Given the description of an element on the screen output the (x, y) to click on. 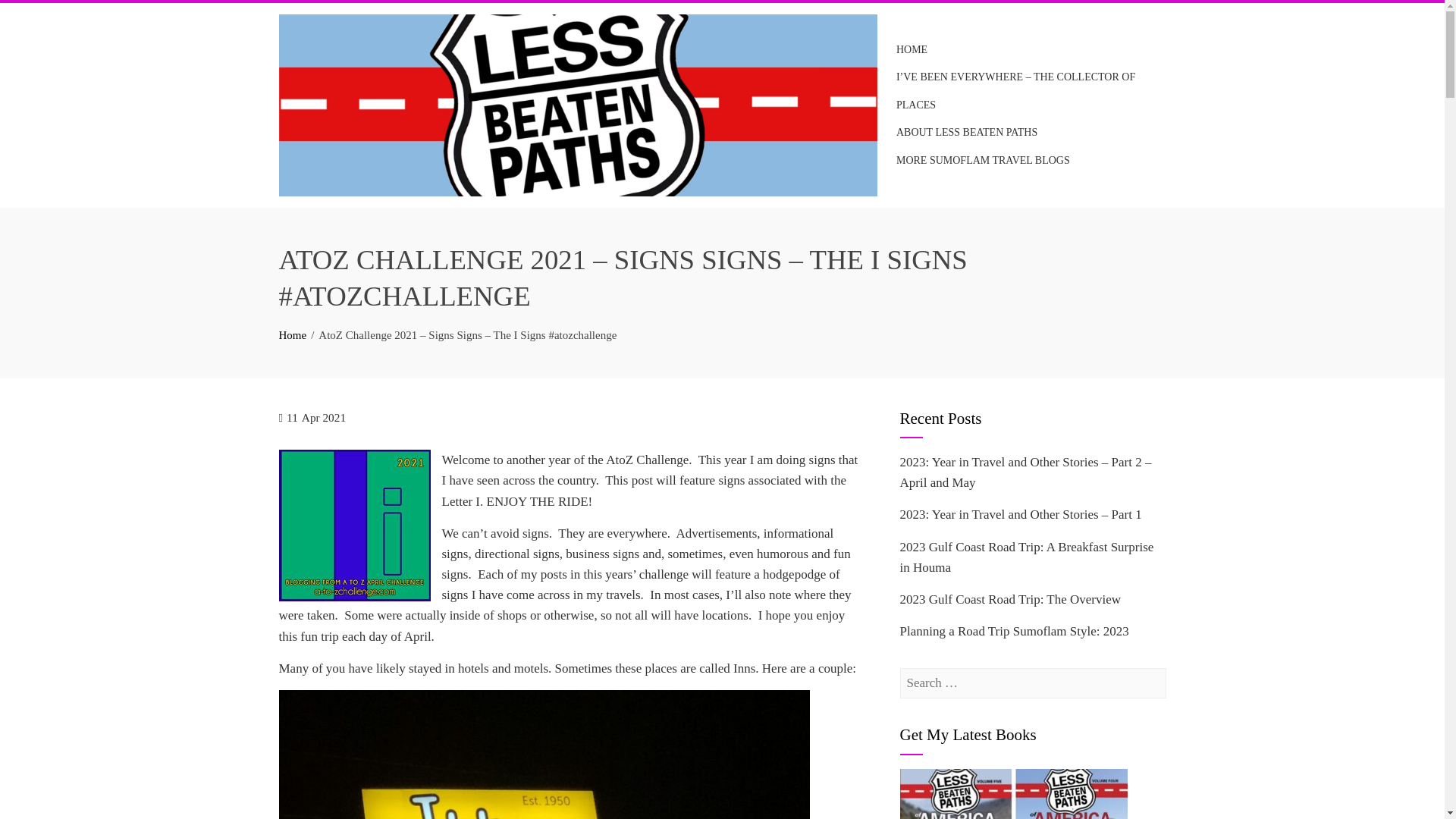
2023 Gulf Coast Road Trip: The Overview (1010, 599)
Search (32, 15)
MORE SUMOFLAM TRAVEL BLOGS (983, 160)
Home (293, 335)
Get My Newest Book (1012, 794)
HOME (912, 49)
2023 Gulf Coast Road Trip: A Breakfast Surprise in Houma (1026, 556)
ABOUT LESS BEATEN PATHS (966, 132)
Planning a Road Trip Sumoflam Style: 2023 (1013, 631)
